Given the description of an element on the screen output the (x, y) to click on. 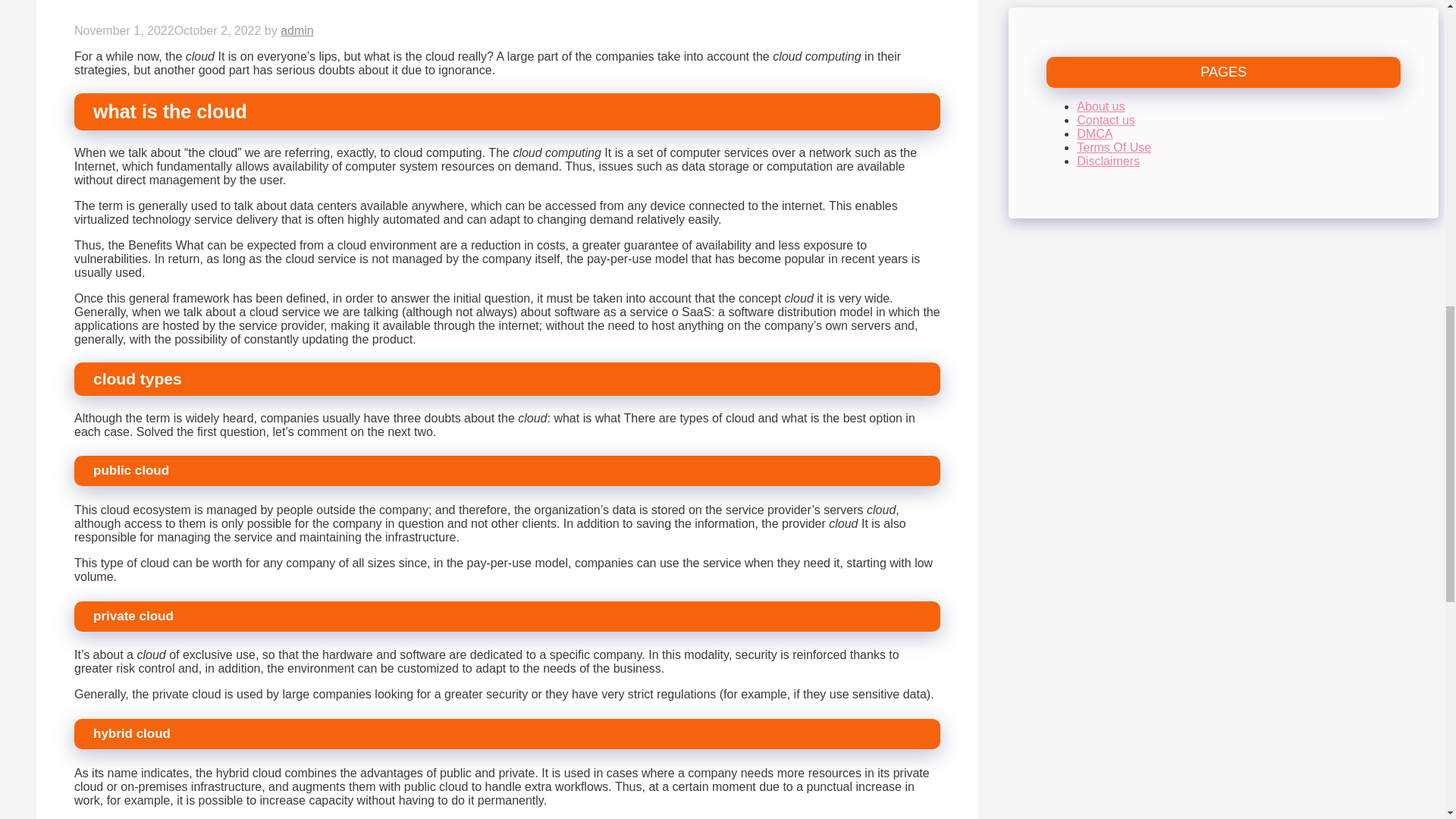
View all posts by admin (297, 30)
admin (297, 30)
